Given the description of an element on the screen output the (x, y) to click on. 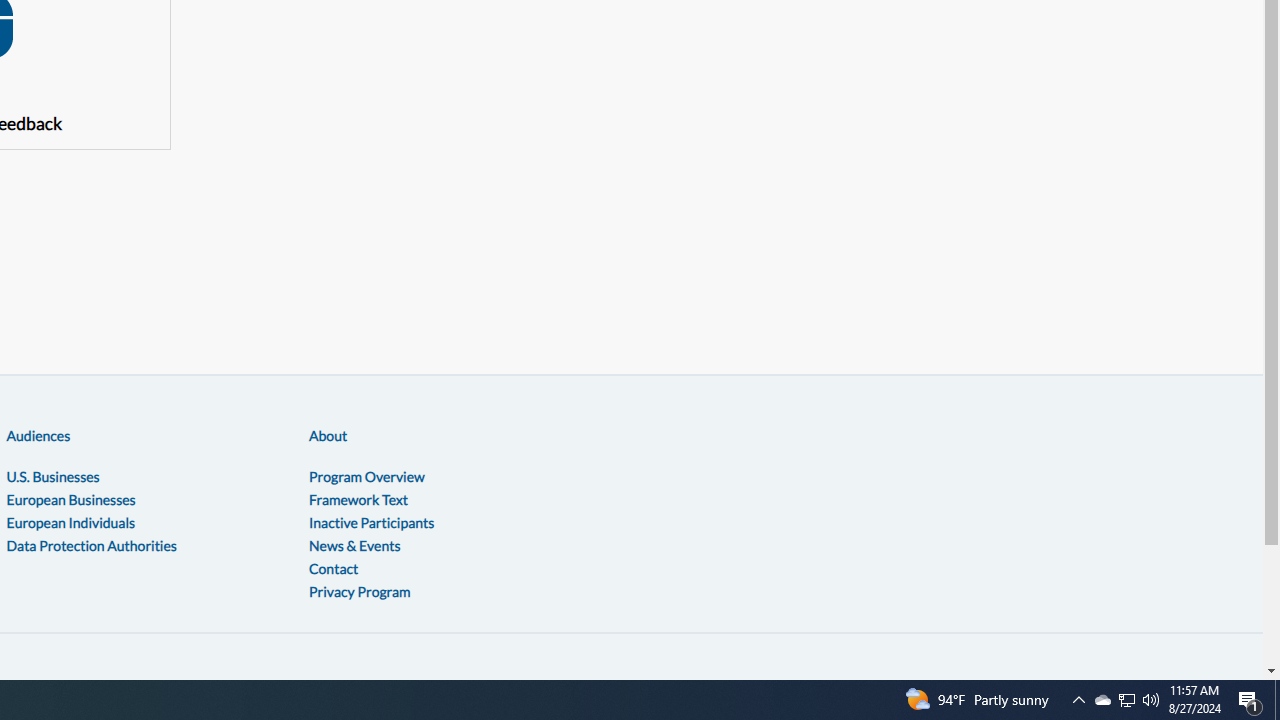
European Businesses (70, 499)
Program Overview (366, 476)
Framework Text (358, 499)
Data Protection Authorities (91, 544)
Contact (333, 567)
Inactive Participants (371, 521)
European Individuals (70, 521)
About (328, 435)
Audiences (38, 435)
News & Events (354, 544)
U.S. Businesses (52, 476)
Privacy Program (359, 590)
